Given the description of an element on the screen output the (x, y) to click on. 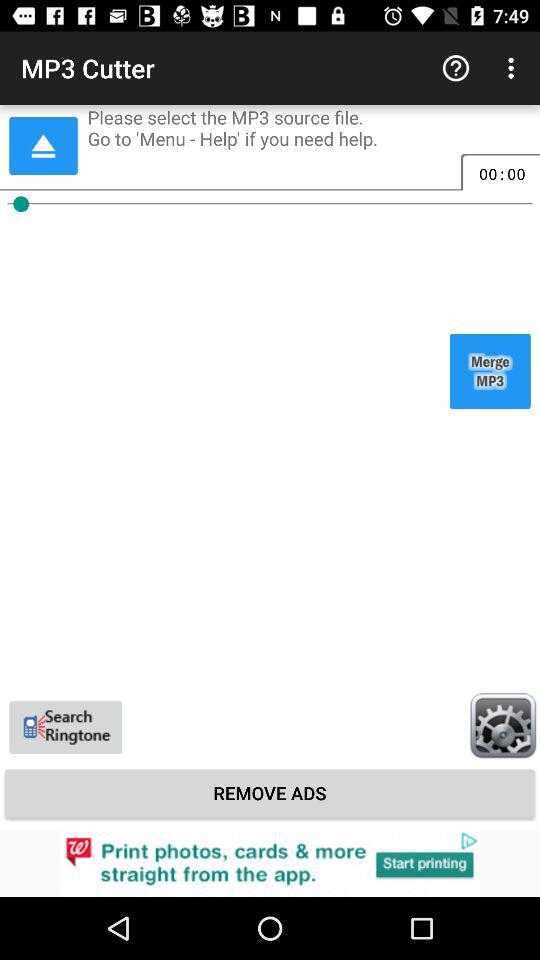
bottom right settings icon (503, 725)
